Given the description of an element on the screen output the (x, y) to click on. 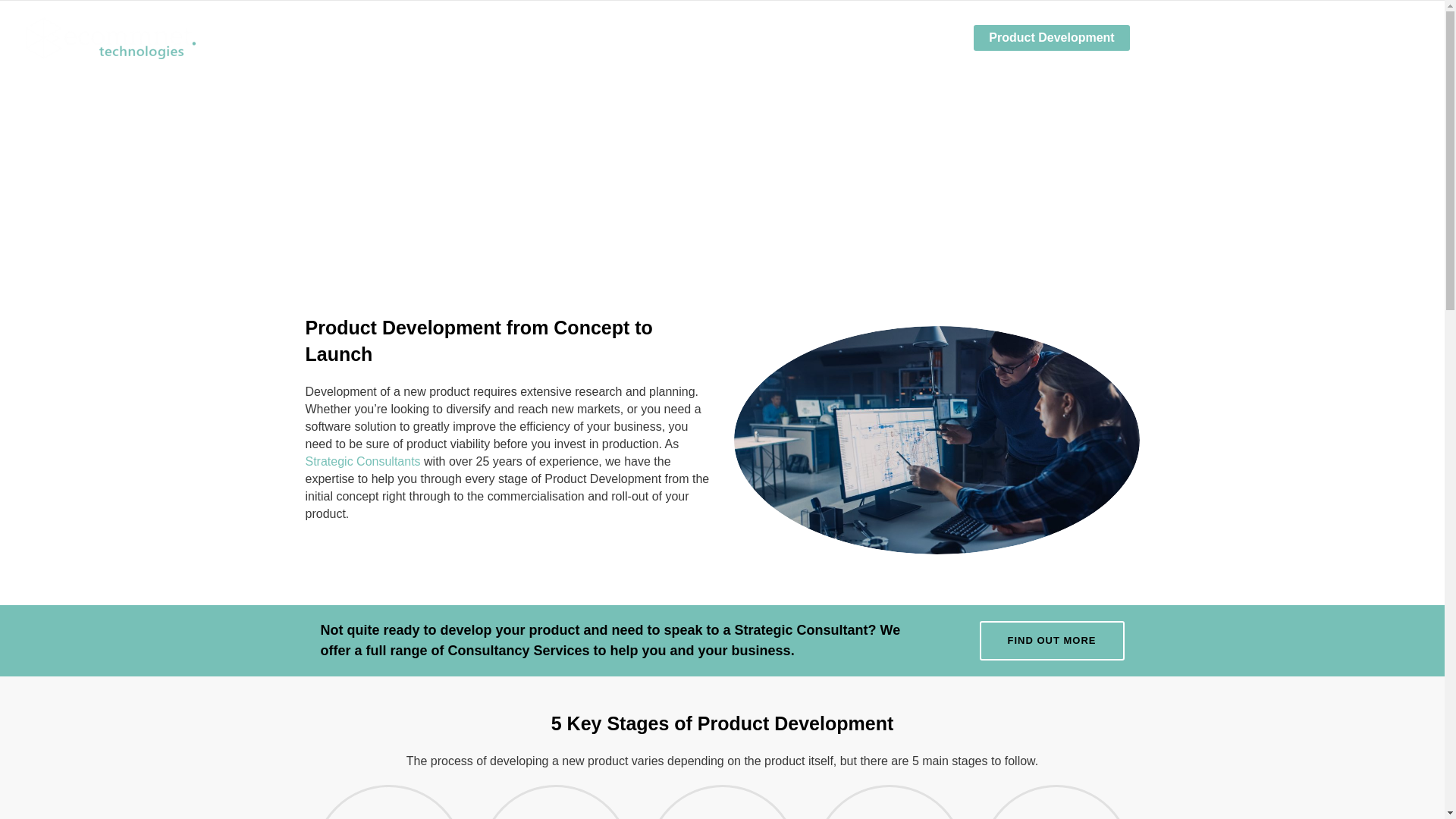
Product Development (1051, 38)
FIND OUT MORE (1051, 640)
Technical Solutions (1204, 38)
Contact (1382, 38)
Strategic Consulting (896, 38)
Strategic Consultants (362, 461)
